Given the description of an element on the screen output the (x, y) to click on. 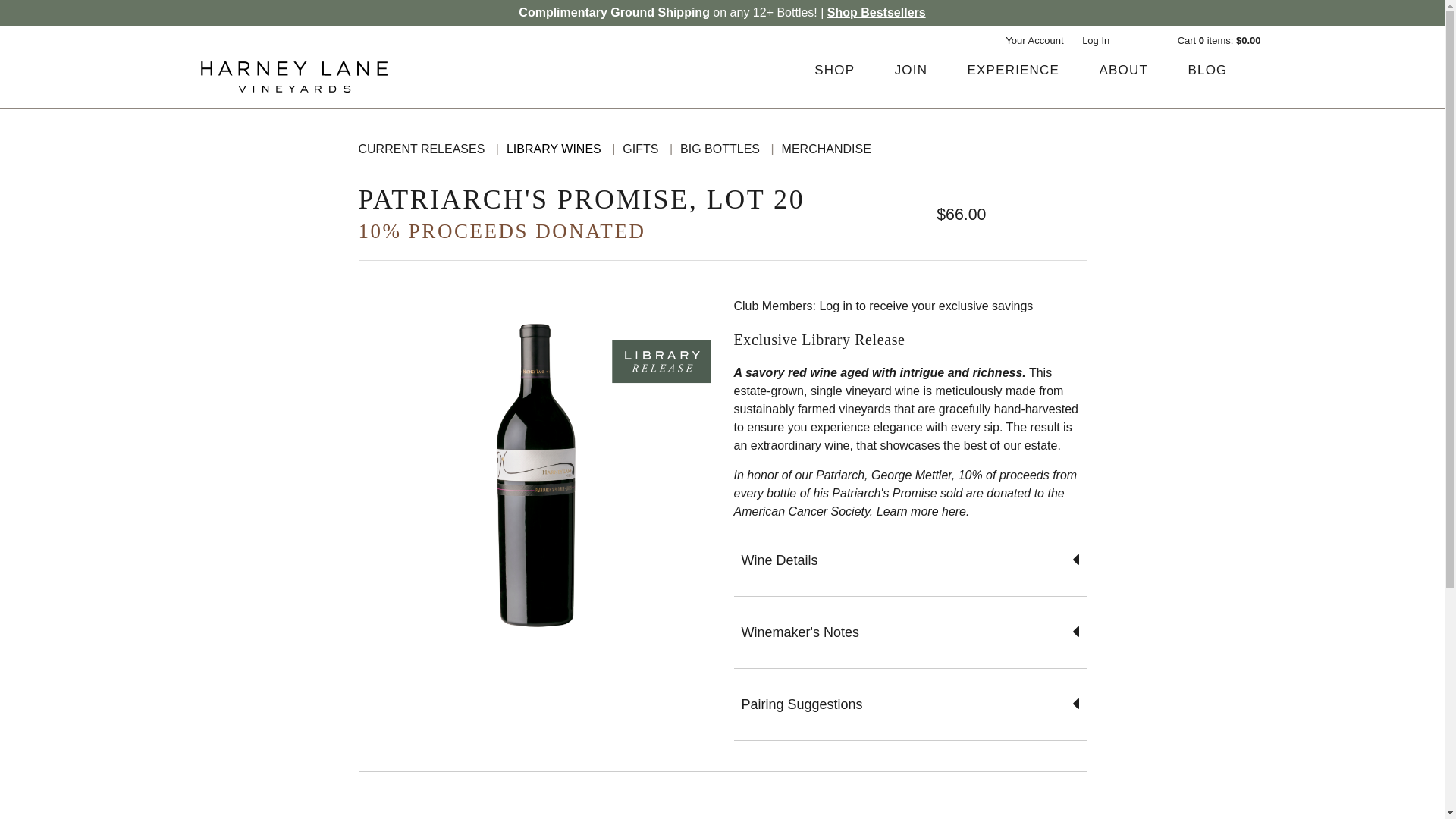
Your Account (1034, 40)
JOIN (911, 70)
Log In (1095, 40)
Shop Bestsellers (876, 11)
SHOP (833, 70)
